Given the description of an element on the screen output the (x, y) to click on. 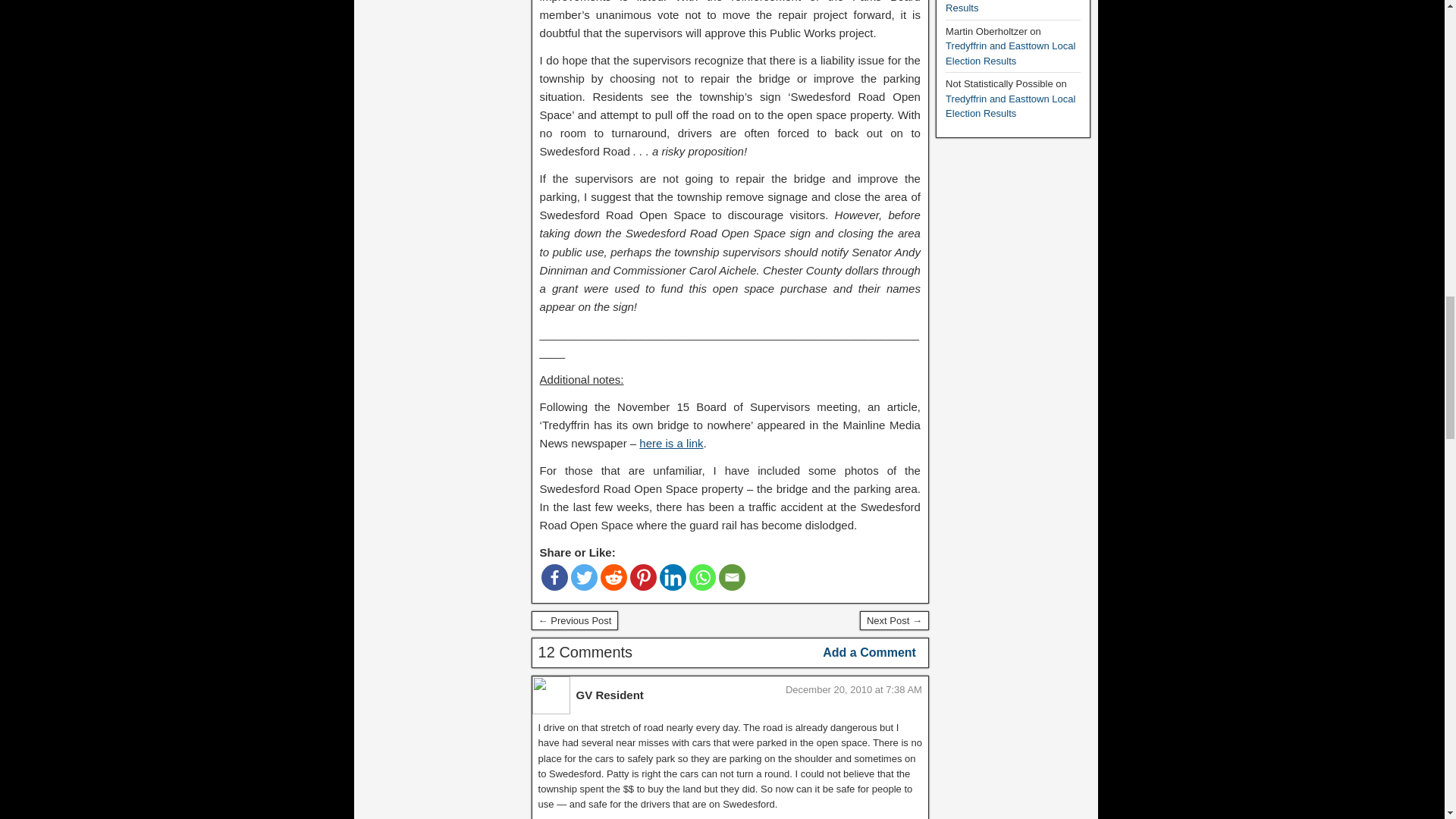
Mainline Media News article (671, 442)
Linkedin (672, 577)
Facebook (554, 577)
December 20, 2010 at 7:38 AM (853, 689)
Pinterest (643, 577)
Twitter (583, 577)
Whatsapp (702, 577)
Email (732, 577)
Reddit (613, 577)
Add a Comment (868, 652)
here is a link (671, 442)
